Given the description of an element on the screen output the (x, y) to click on. 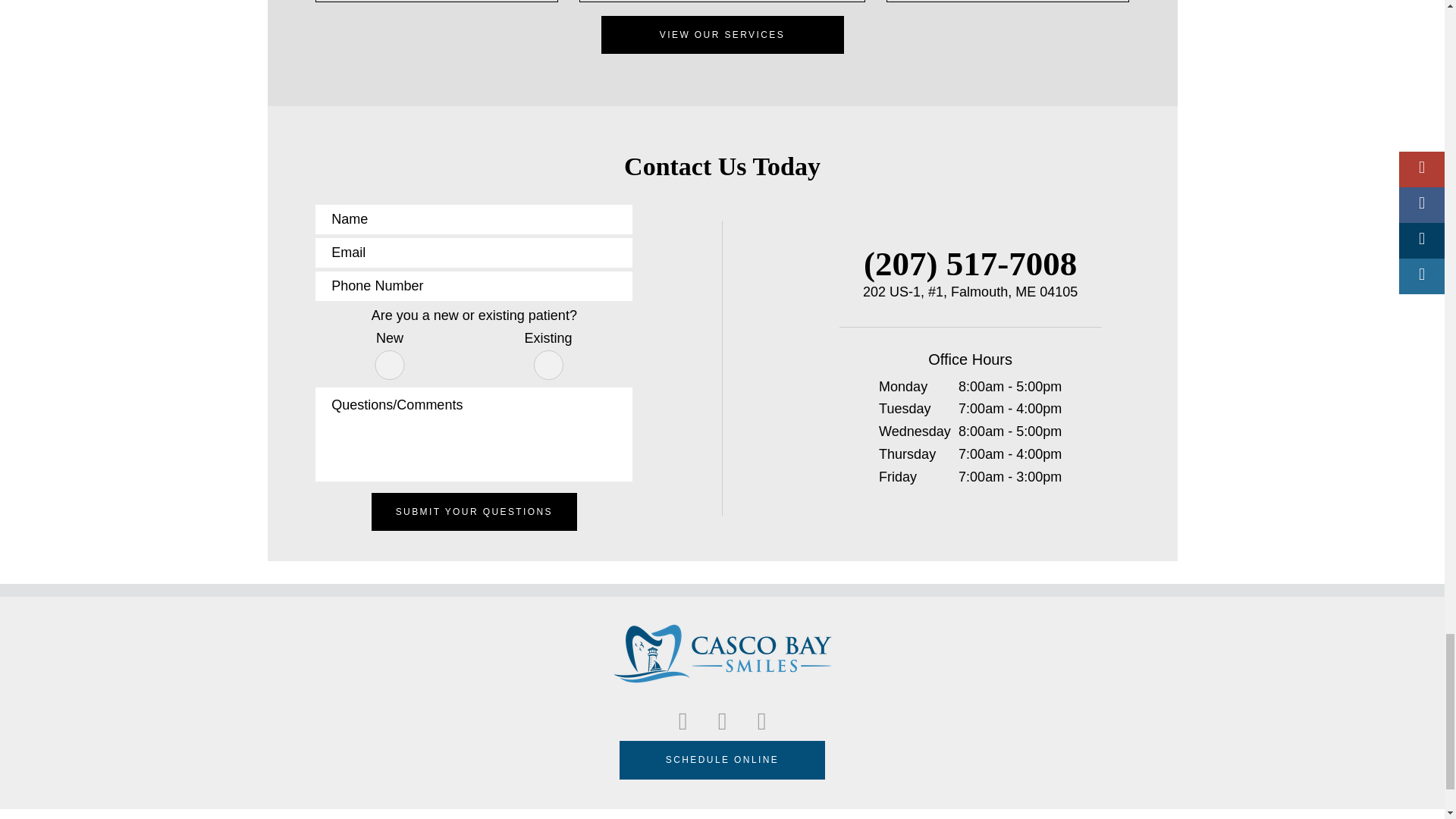
Submit Your Questions (473, 512)
New (389, 365)
Existing (548, 365)
